Given the description of an element on the screen output the (x, y) to click on. 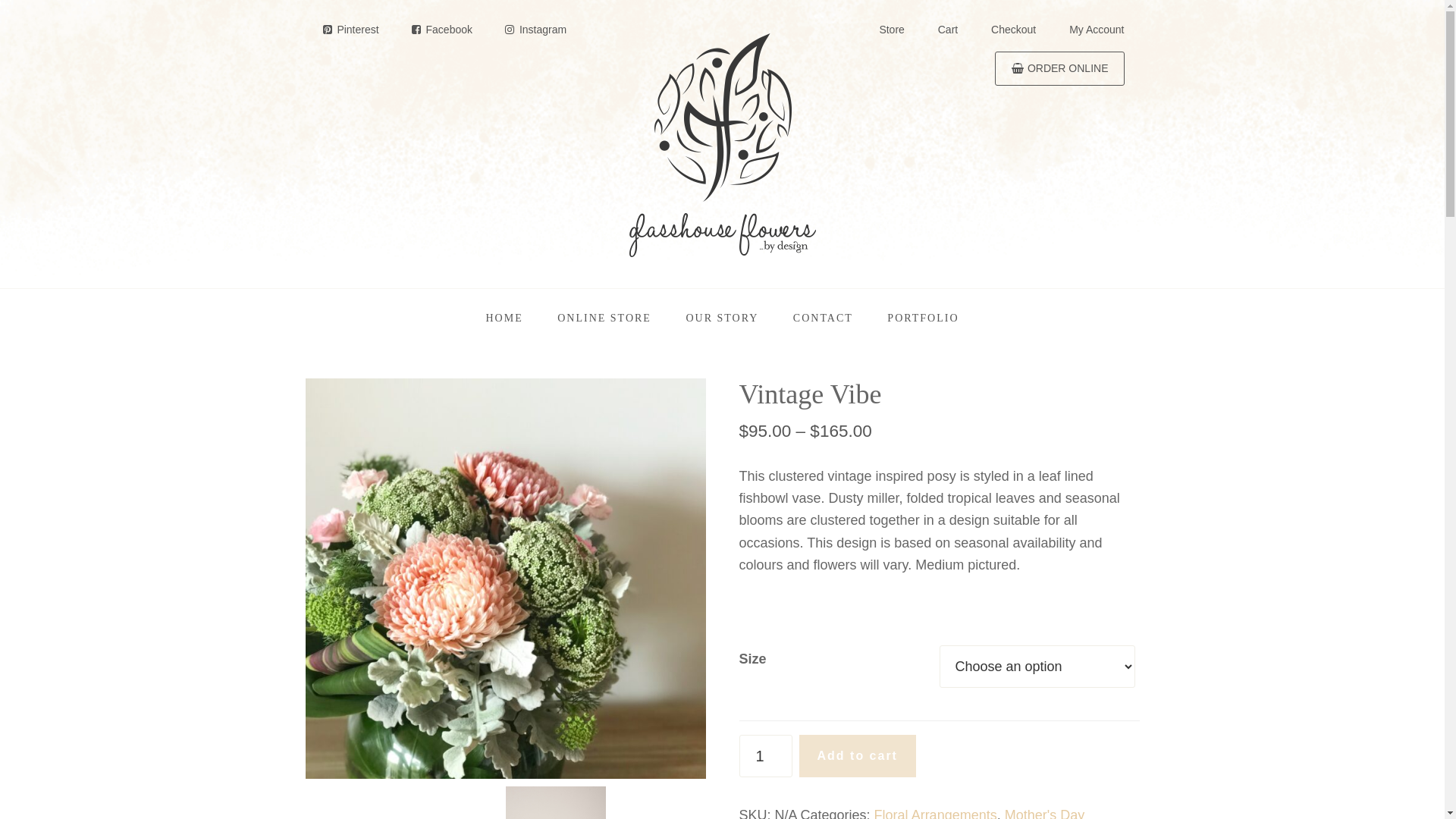
Facebook Element type: text (440, 29)
My Account Element type: text (1096, 29)
PORTFOLIO Element type: text (922, 318)
Glasshouse Flowers by Design Element type: text (721, 143)
Checkout Element type: text (1013, 29)
Qty Element type: hover (764, 755)
ONLINE STORE Element type: text (604, 318)
ORDER ONLINE Element type: text (1058, 68)
Pinterest Element type: text (348, 29)
CONTACT Element type: text (823, 318)
Cart Element type: text (947, 29)
Instagram Element type: text (534, 29)
HOME Element type: text (503, 318)
Store Element type: text (891, 29)
Add to cart Element type: text (857, 755)
Skip to primary navigation Element type: text (0, 0)
IMG_0664 Element type: hover (504, 578)
OUR STORY Element type: text (721, 318)
